Given the description of an element on the screen output the (x, y) to click on. 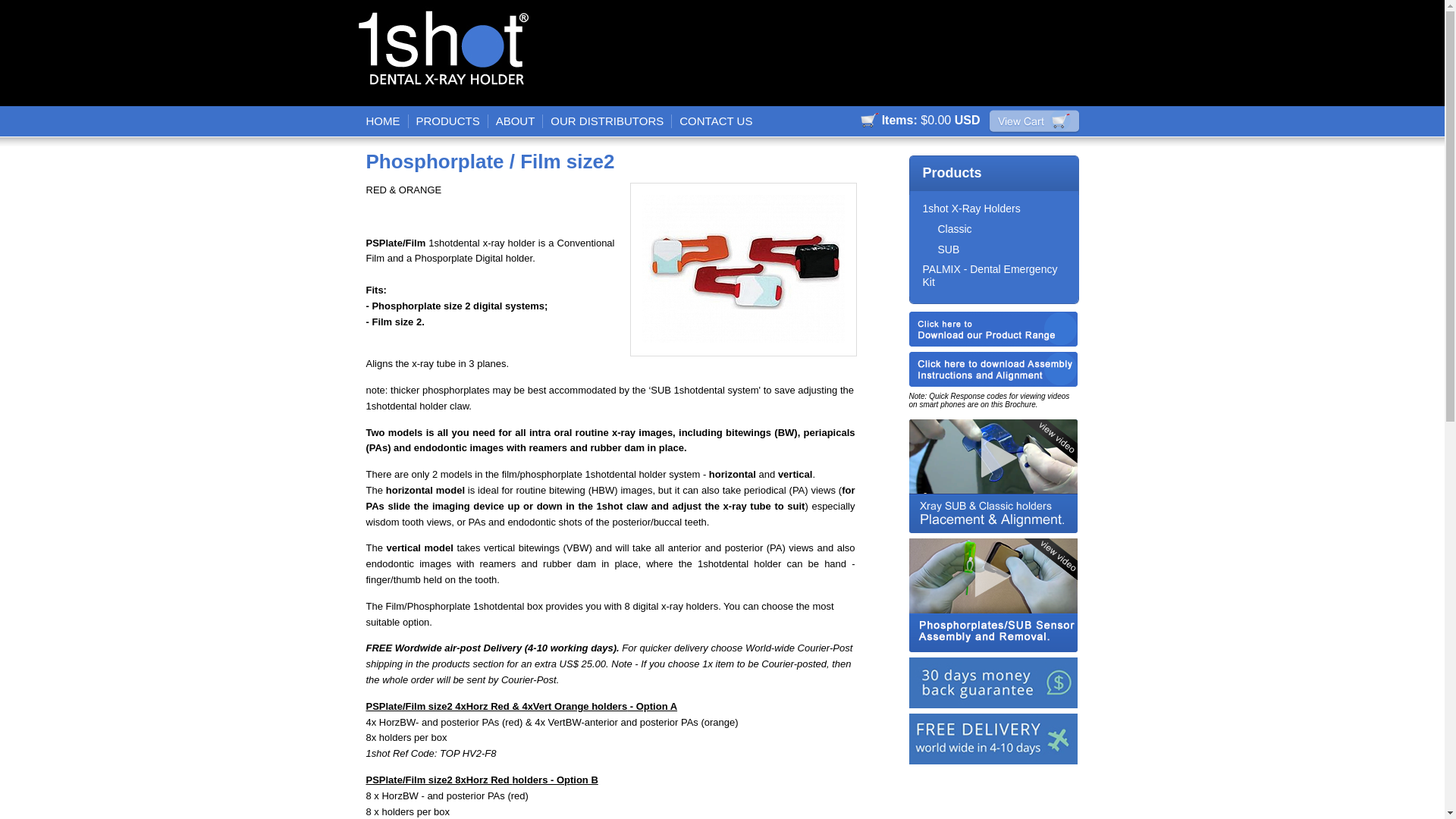
Classic Element type: text (954, 228)
1shot X-Ray Holders Element type: text (970, 208)
OUR DISTRIBUTORS Element type: text (606, 121)
1ShotDental.com Element type: text (449, 53)
ABOUT Element type: text (515, 121)
SUB Element type: text (948, 249)
CONTACT US Element type: text (715, 121)
PALMIX - Dental Emergency Kit Element type: text (989, 275)
PRODUCTS Element type: text (447, 121)
View Cart Element type: text (1033, 121)
HOME Element type: text (382, 121)
